Given the description of an element on the screen output the (x, y) to click on. 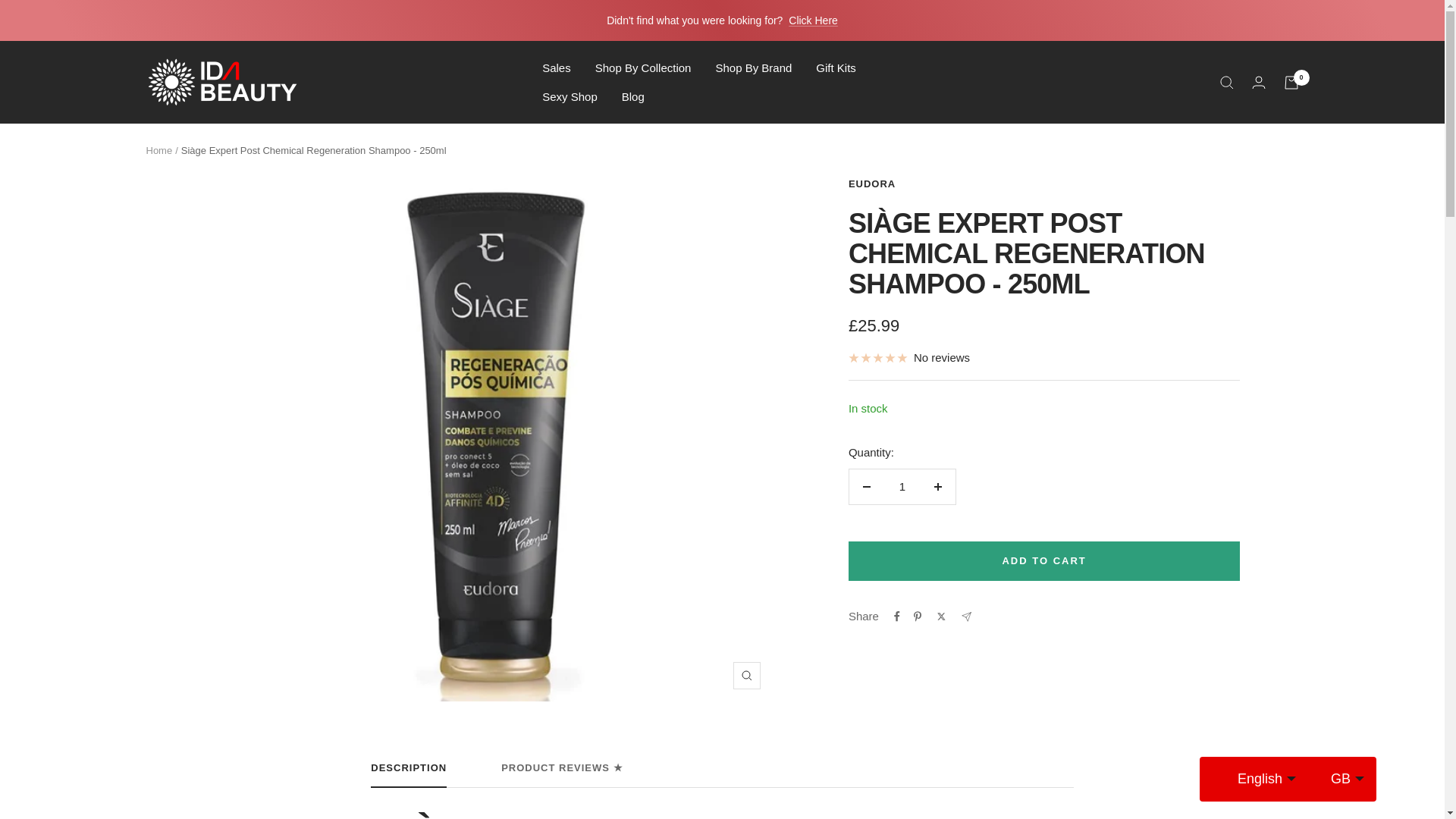
No reviews (908, 357)
Click Here (813, 20)
Shop By Collection (643, 67)
Sales (555, 67)
Blog (633, 96)
1 (901, 486)
ADD TO CART (1044, 560)
Home (158, 150)
EUDORA (871, 183)
0 (1291, 82)
Shop By Brand (753, 67)
Decrease quantity (865, 486)
Gift Kits (835, 67)
IDA Beauty UK (221, 81)
Zoom (746, 675)
